Given the description of an element on the screen output the (x, y) to click on. 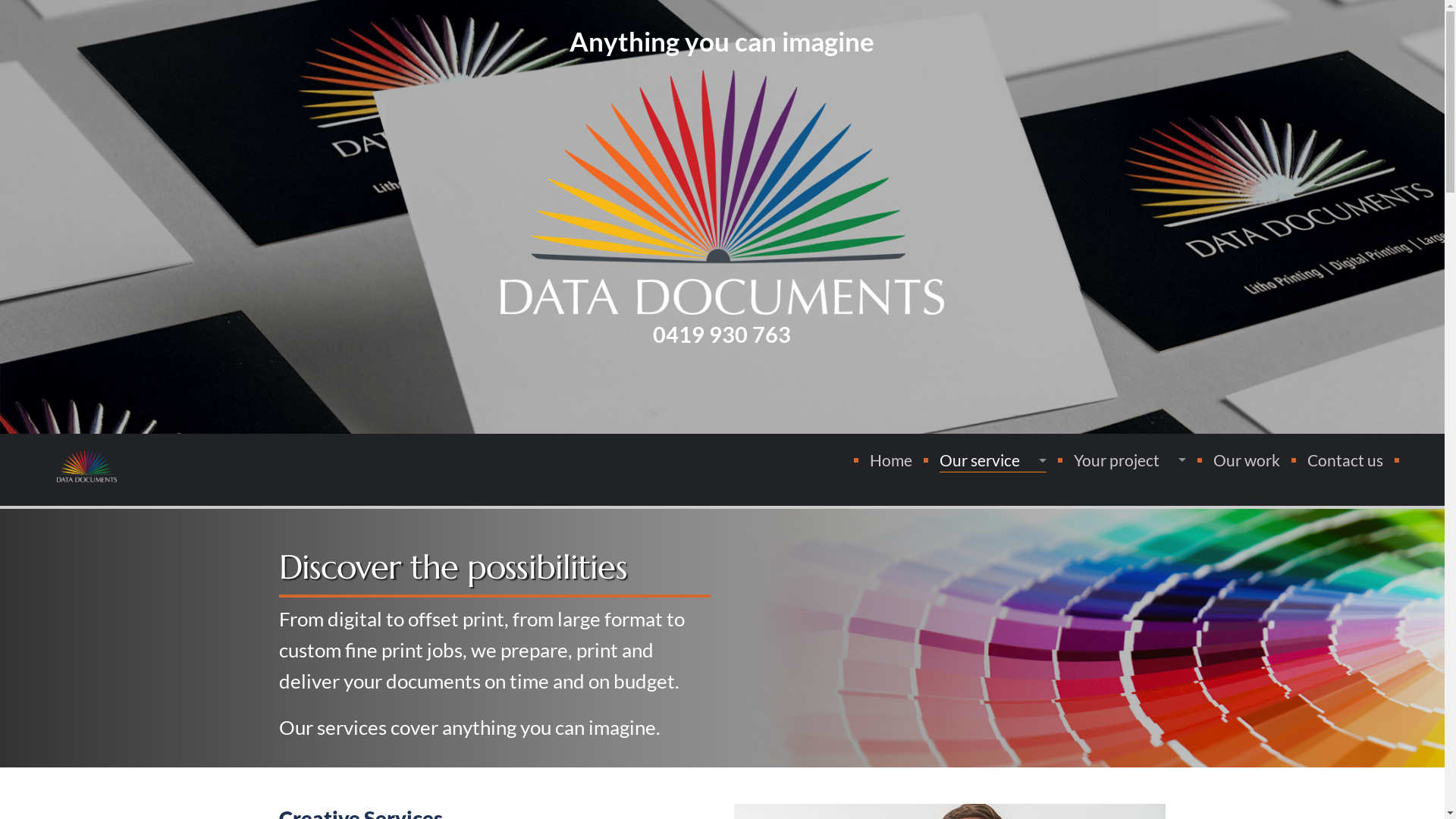
Your feedback Element type: text (987, 660)
Home Element type: text (890, 459)
Our work Element type: text (1246, 459)
Our team Element type: text (987, 625)
Large format printing Element type: text (987, 523)
Your questions Element type: text (987, 693)
Types of printing Element type: text (987, 488)
Contact us Element type: text (1345, 459)
Sustainability Element type: text (987, 591)
Templates Element type: text (1124, 522)
Assembly and fulfilment Element type: text (987, 556)
0419 930 763 Element type: text (721, 334)
Preparing artwork Element type: text (1124, 488)
Your project Element type: text (1129, 459)
Our service Element type: text (992, 460)
